Given the description of an element on the screen output the (x, y) to click on. 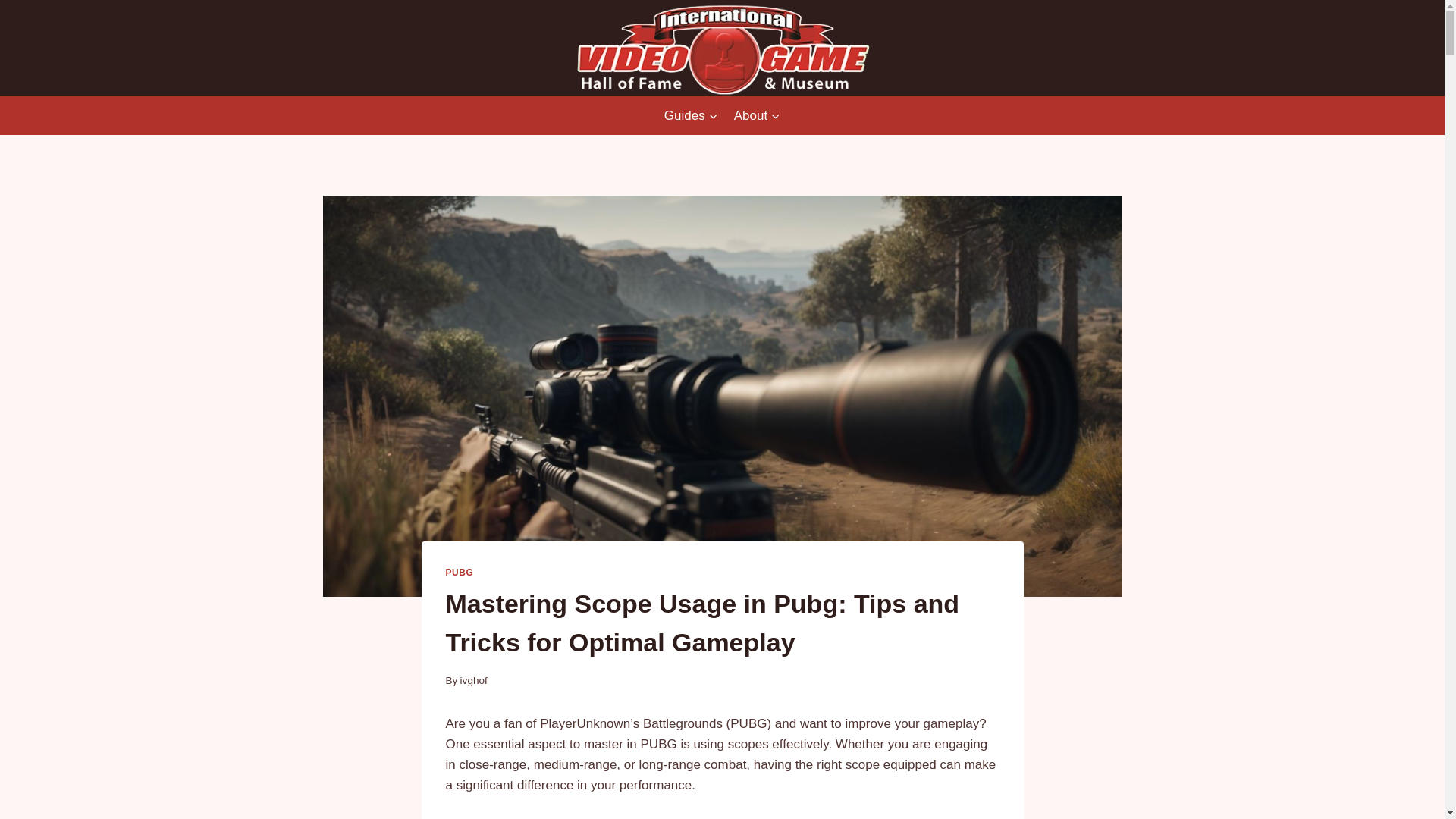
Guides (690, 115)
ivghof (473, 680)
PUBG (459, 572)
About (757, 115)
